Given the description of an element on the screen output the (x, y) to click on. 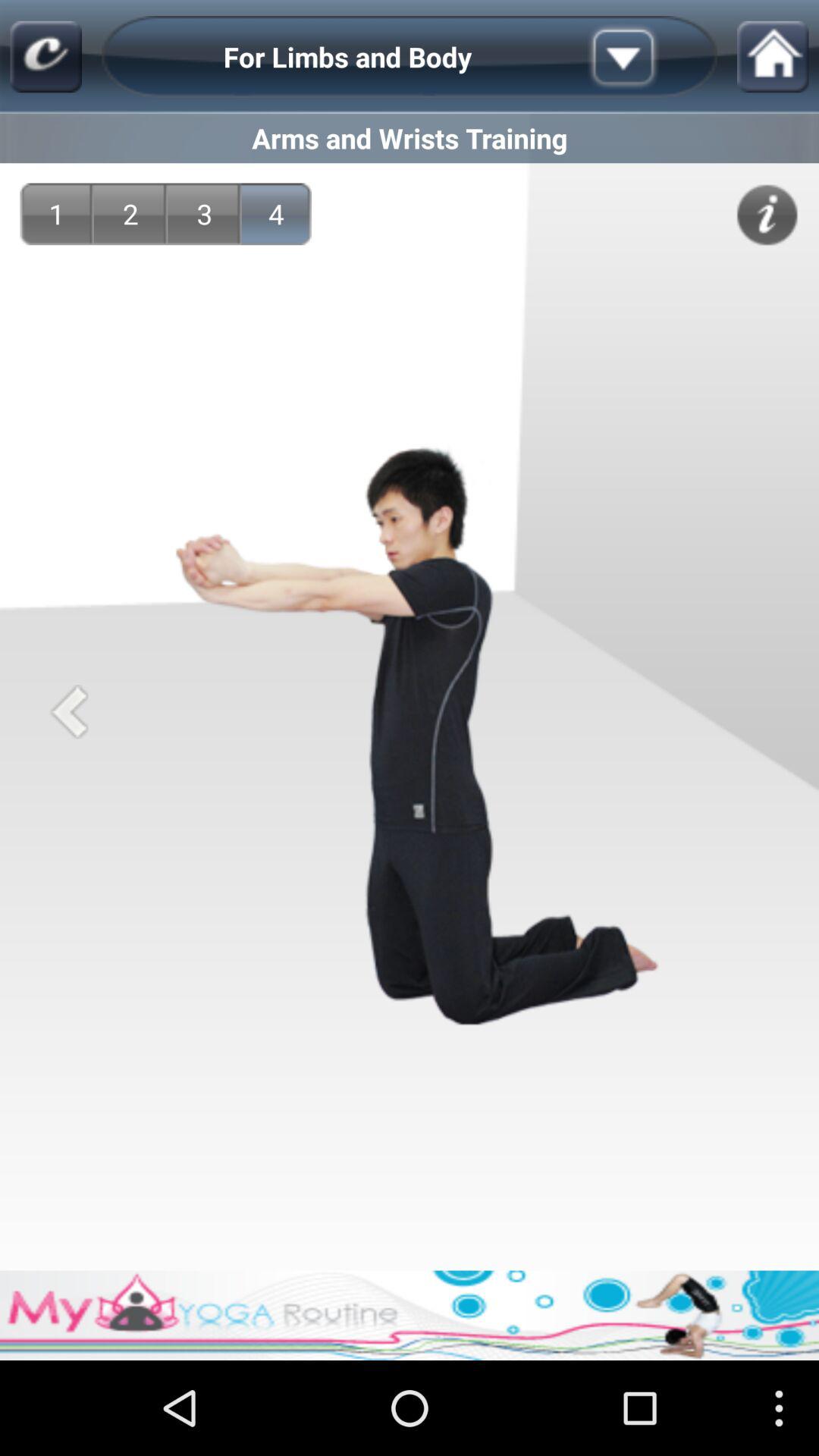
choose item below arms and wrists (767, 214)
